Given the description of an element on the screen output the (x, y) to click on. 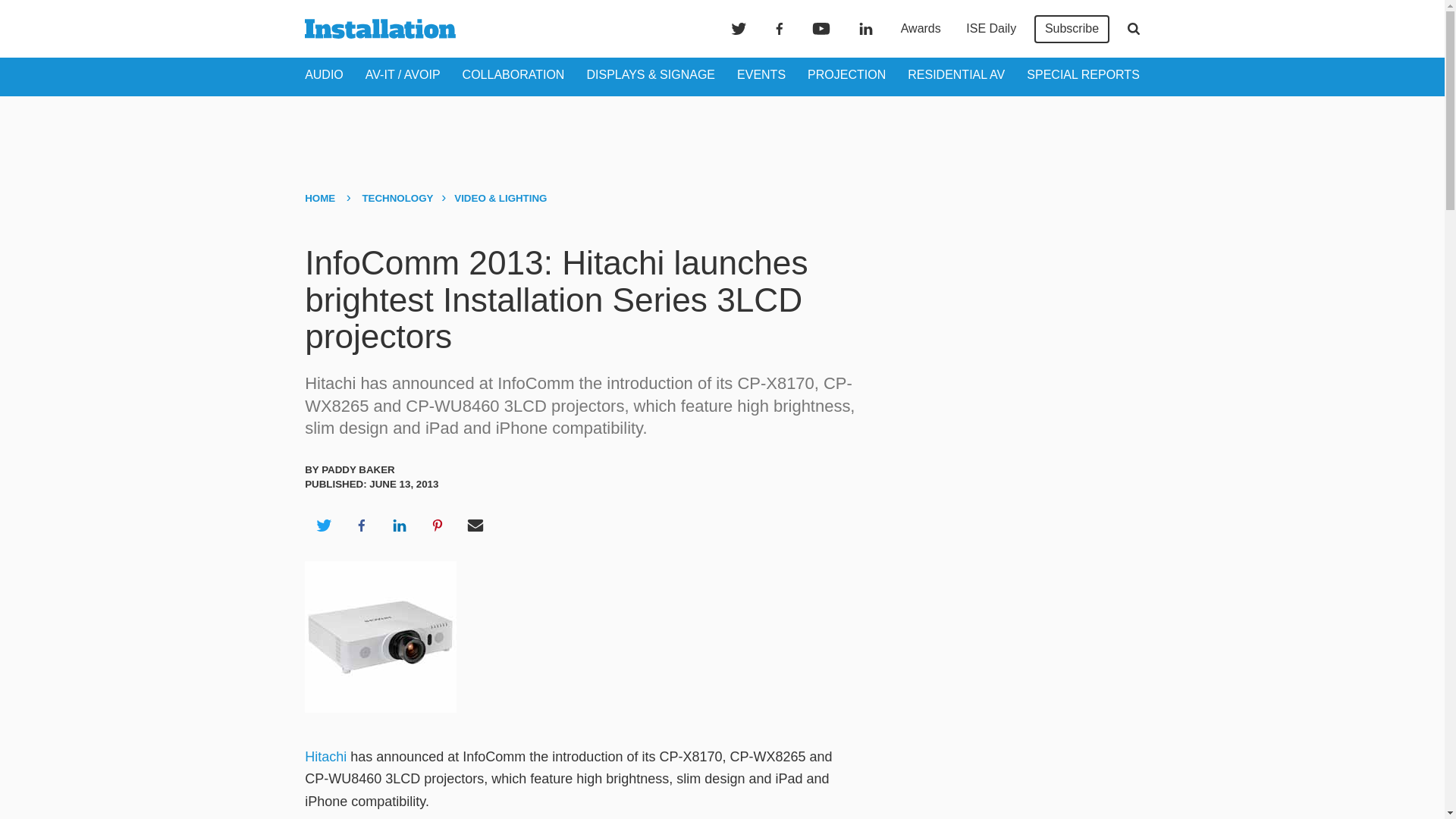
Awards (921, 29)
Share on Facebook (361, 525)
COLLABORATION (513, 74)
Share on Twitter (323, 525)
Share on Pinterest (438, 525)
ISE Daily (990, 29)
Subscribe (1071, 29)
Paddy Baker's Author Profile (357, 469)
AUDIO (323, 74)
Share on LinkedIn (399, 525)
